Given the description of an element on the screen output the (x, y) to click on. 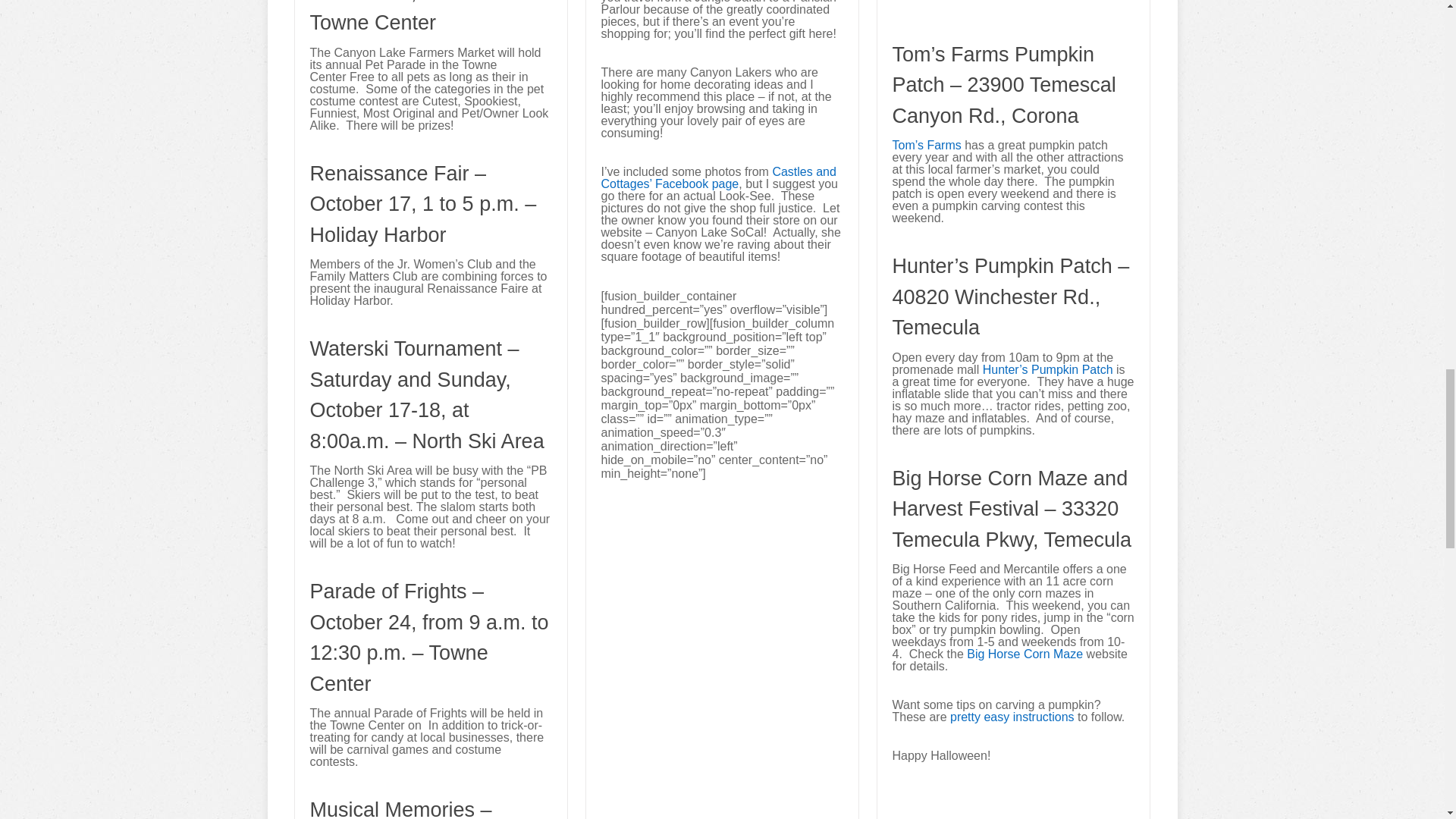
pretty easy instructions (1012, 716)
Big Horse Corn Maze (1024, 653)
